Given the description of an element on the screen output the (x, y) to click on. 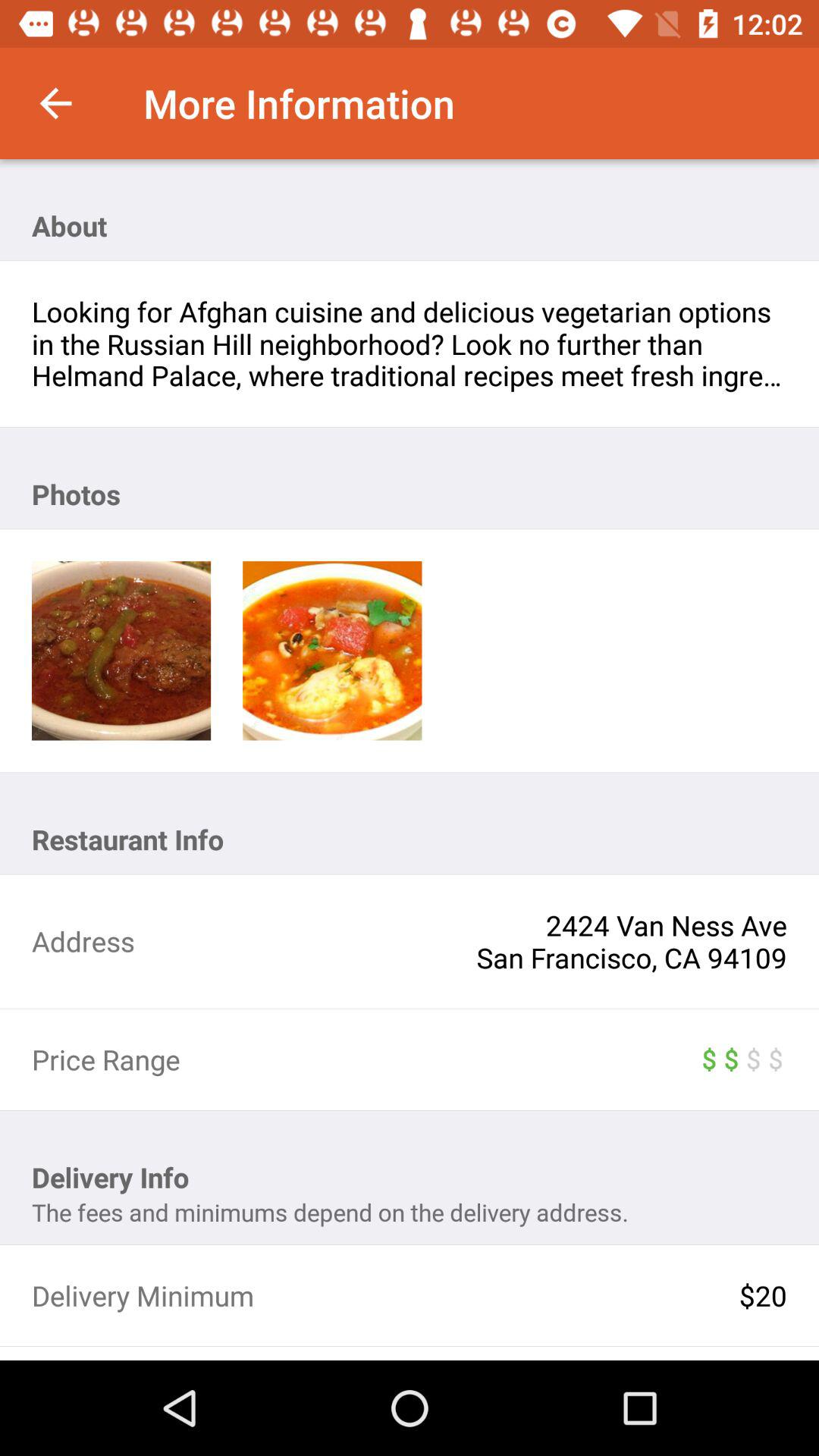
turn off the item below the photos (332, 650)
